Given the description of an element on the screen output the (x, y) to click on. 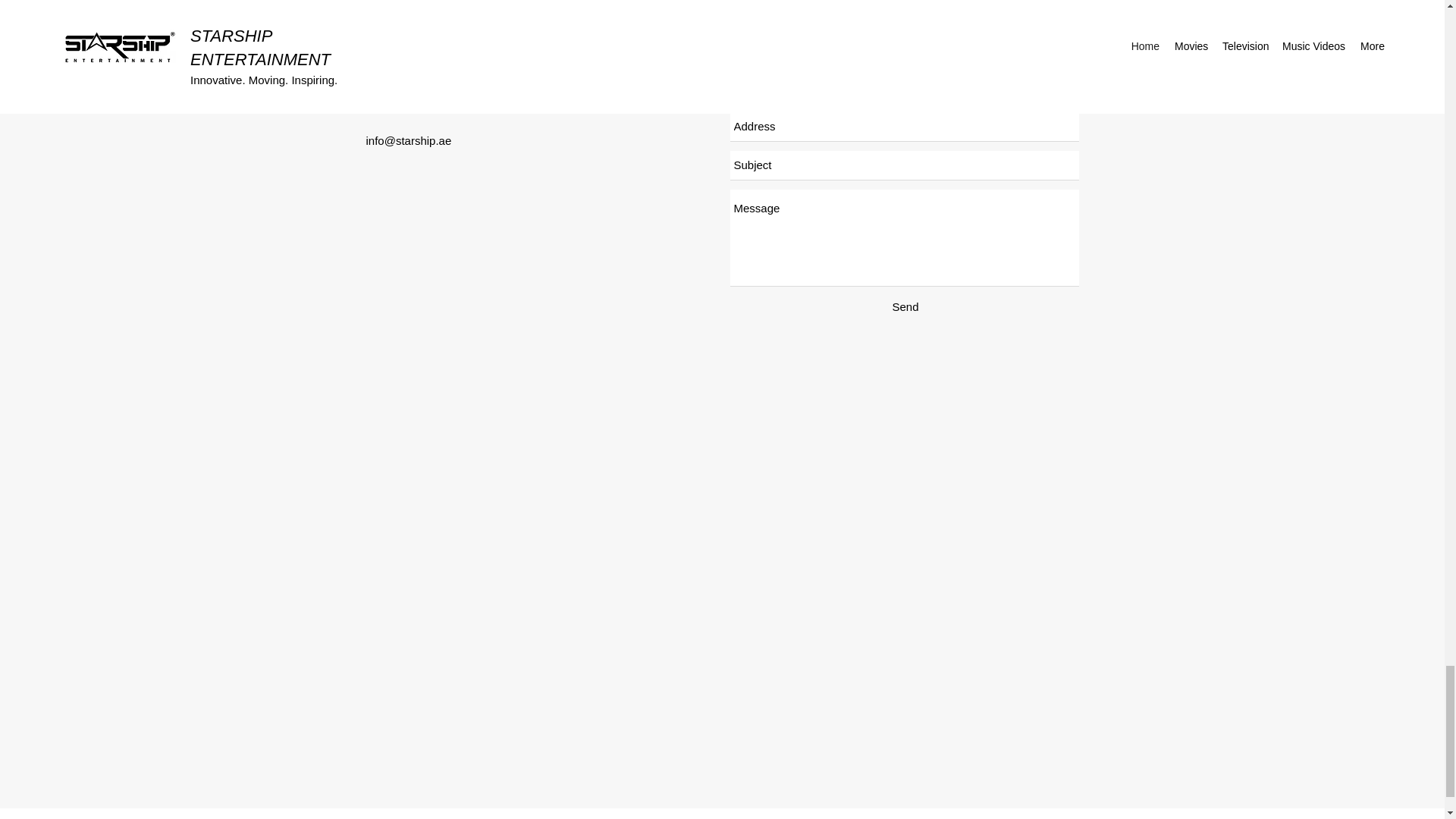
Send (904, 306)
